Given the description of an element on the screen output the (x, y) to click on. 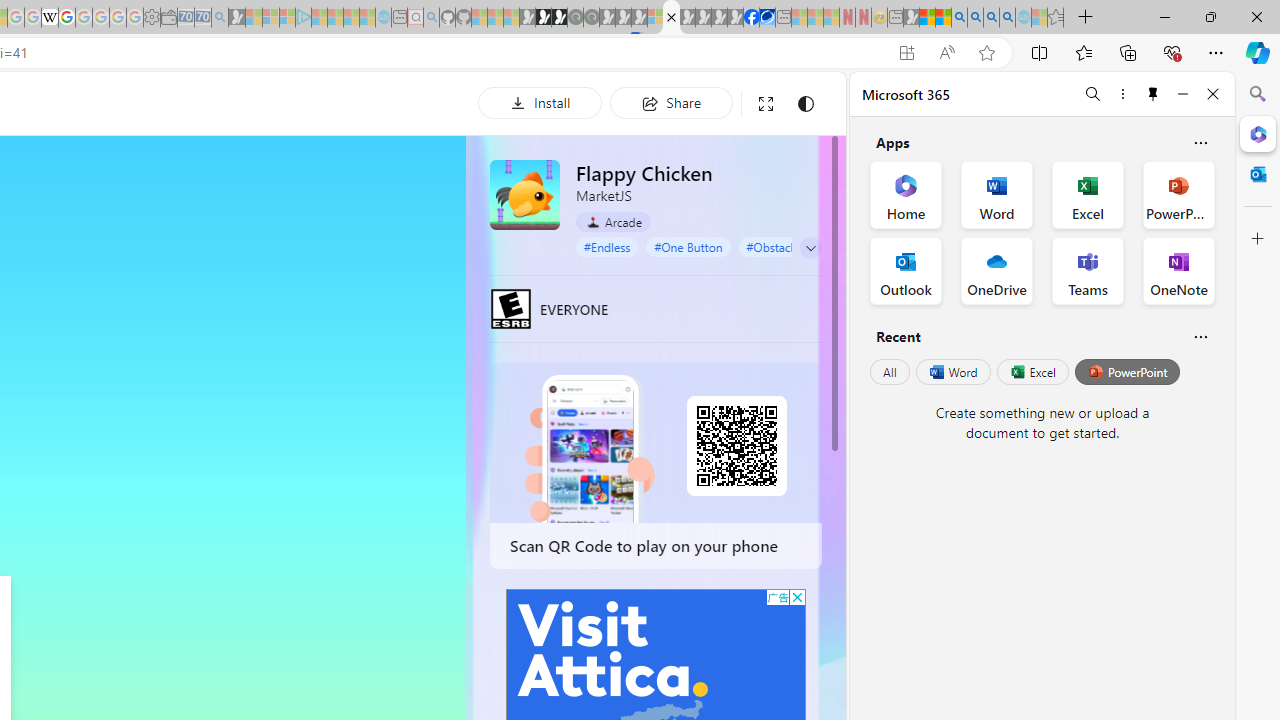
#Obstacle Course (792, 246)
Minimize (1182, 93)
Close Microsoft 365 pane (1258, 133)
Teams Office App (1087, 270)
New Tab (1085, 17)
PowerPoint (1127, 372)
Excel Office App (1087, 194)
EVERYONE (511, 308)
Add this page to favorites (Ctrl+D) (986, 53)
Class: control (811, 248)
Home Office App (906, 194)
